Given the description of an element on the screen output the (x, y) to click on. 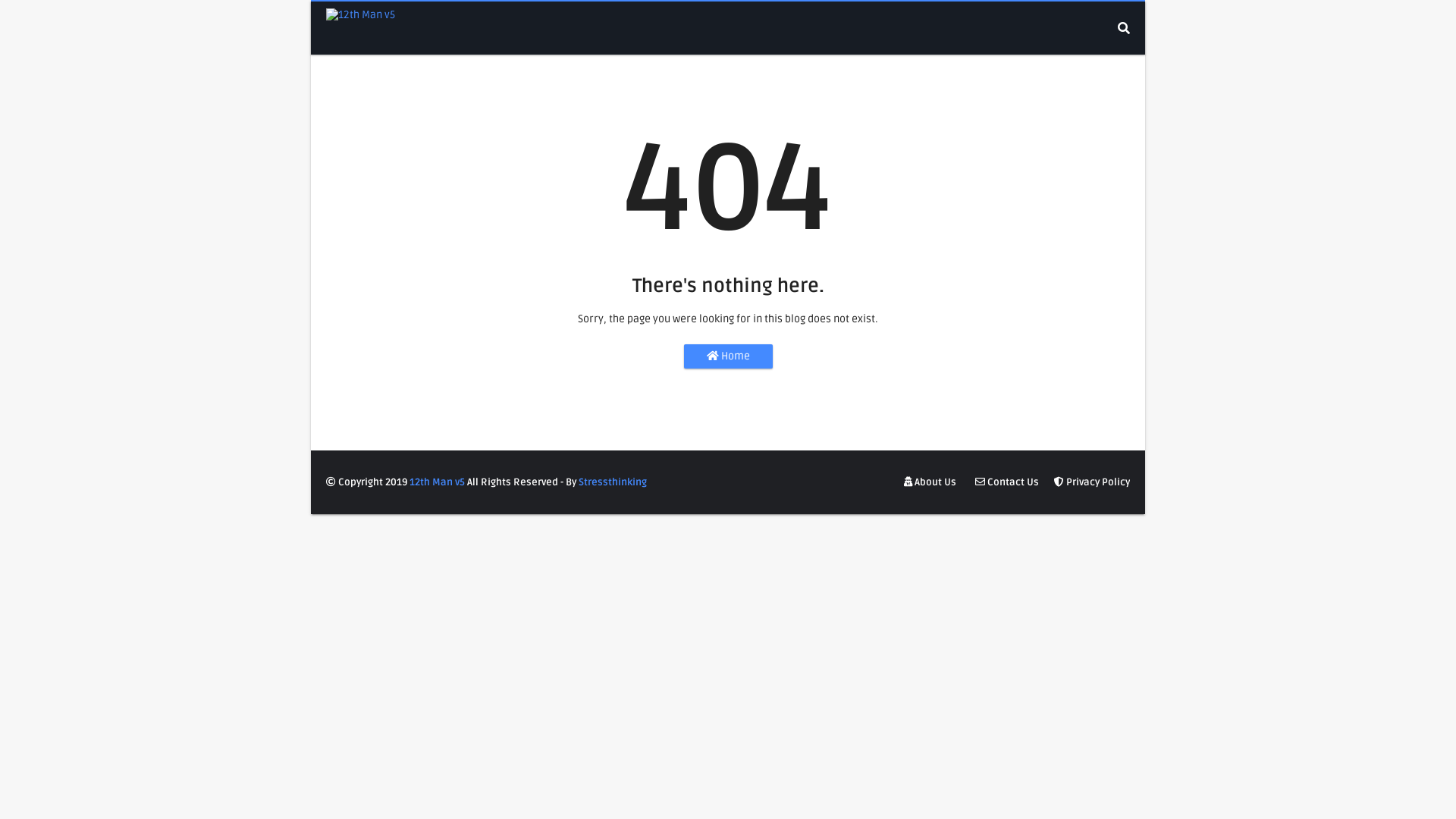
Stressthinking Element type: text (612, 482)
Home Element type: text (728, 356)
Contact Us Element type: text (1006, 482)
Privacy Policy Element type: text (1089, 482)
12th Man v5 Element type: text (436, 482)
About Us Element type: text (929, 482)
